Given the description of an element on the screen output the (x, y) to click on. 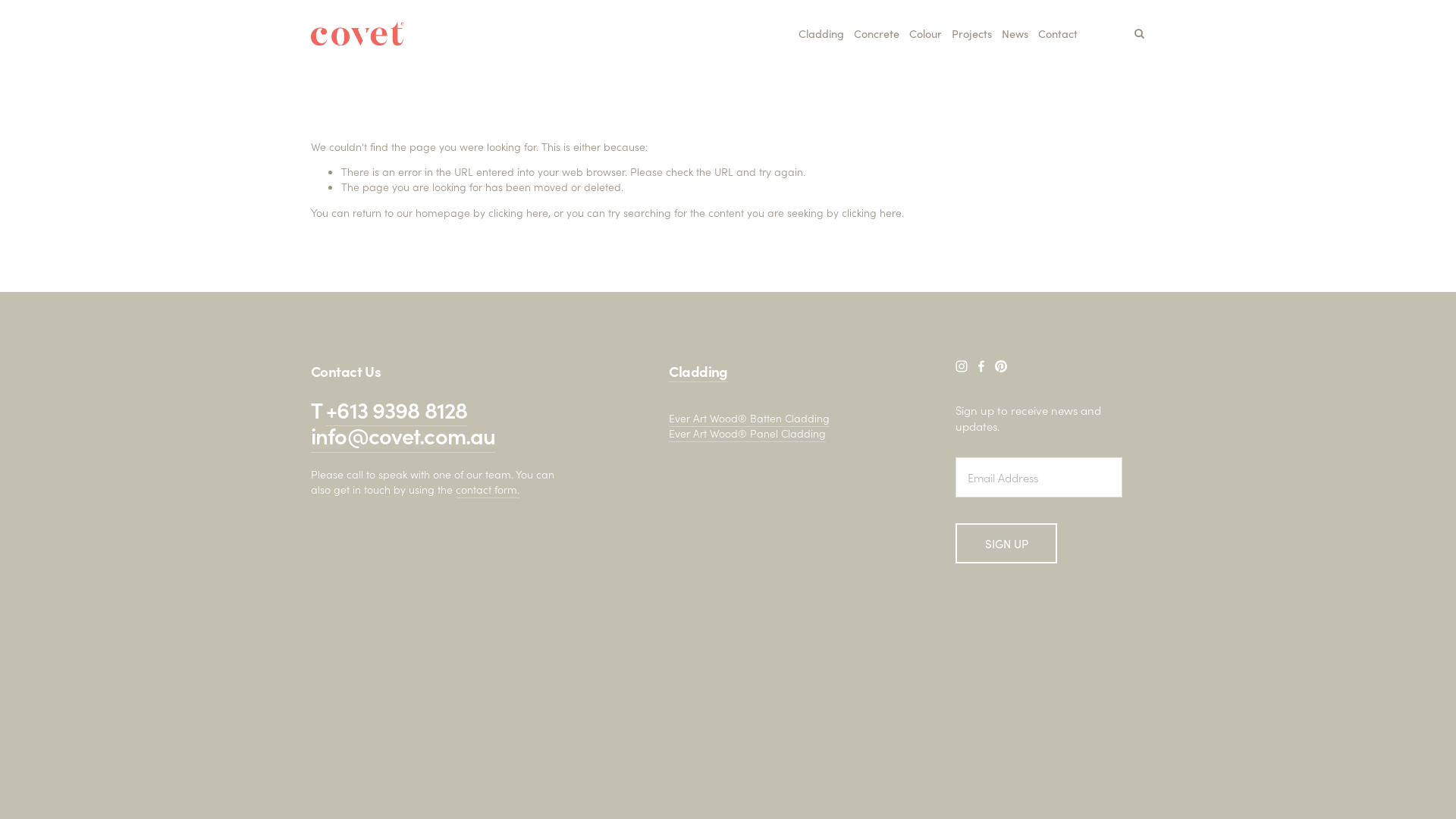
Ever Art Wood Element type: text (702, 418)
Cladding Element type: text (697, 371)
clicking here Element type: text (518, 211)
Projects Element type: text (971, 32)
contact form. Element type: text (487, 489)
clicking here Element type: text (871, 211)
News Element type: text (1014, 33)
Concrete Element type: text (876, 32)
info@covet.com.au Element type: text (402, 435)
Colour Element type: text (925, 32)
+613 9398 8128 Element type: text (396, 409)
Contact Element type: text (1057, 33)
SIGN UP Element type: text (1006, 543)
Cladding Element type: text (821, 32)
